Given the description of an element on the screen output the (x, y) to click on. 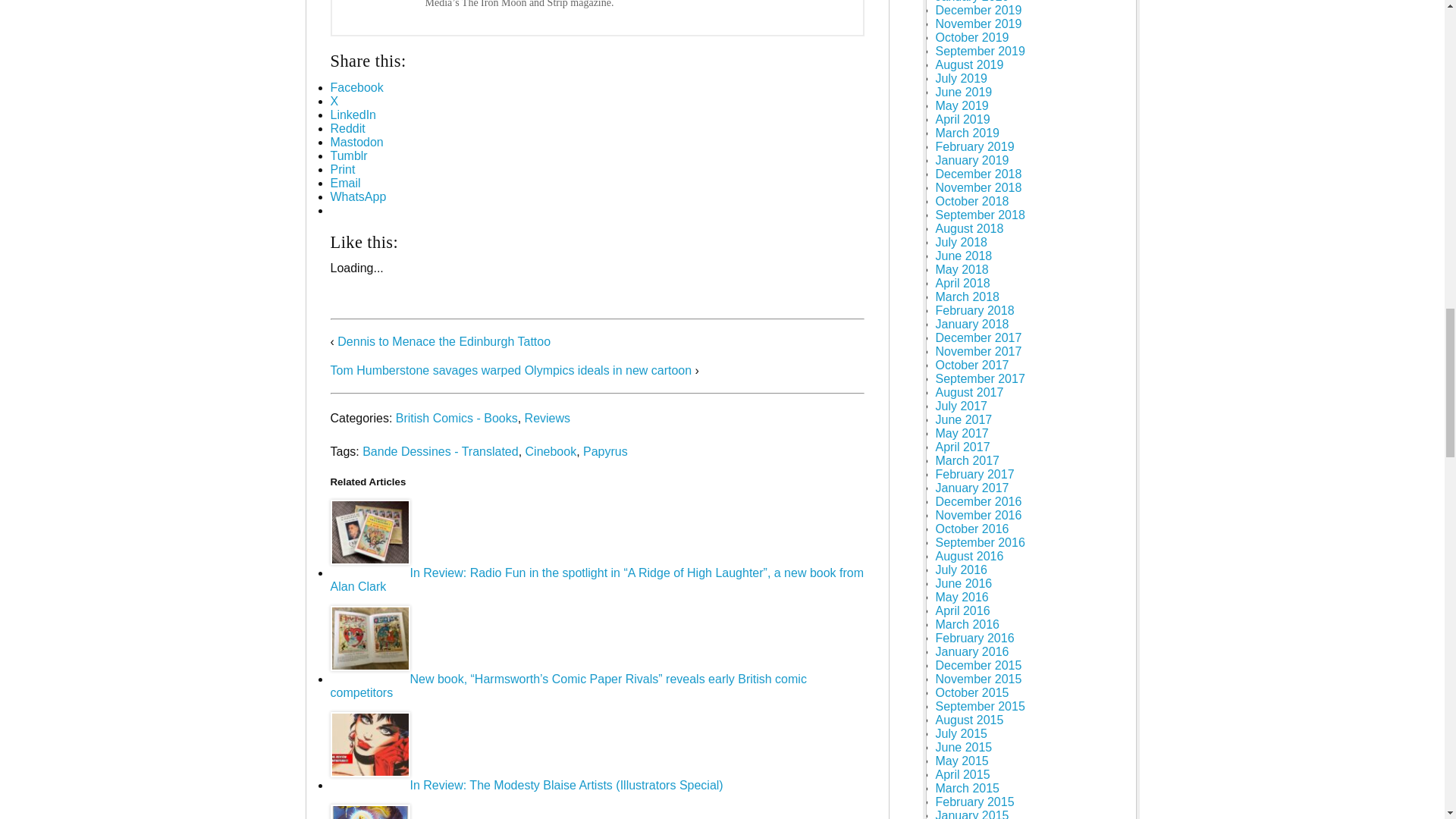
Click to share on Tumblr (349, 155)
Click to share on Reddit (347, 128)
Click to share on Mastodon (357, 141)
Click to share on Facebook (357, 87)
Click to share on LinkedIn (353, 114)
Click to print (342, 169)
Click to email a link to a friend (345, 182)
Click to share on WhatsApp (358, 196)
